Given the description of an element on the screen output the (x, y) to click on. 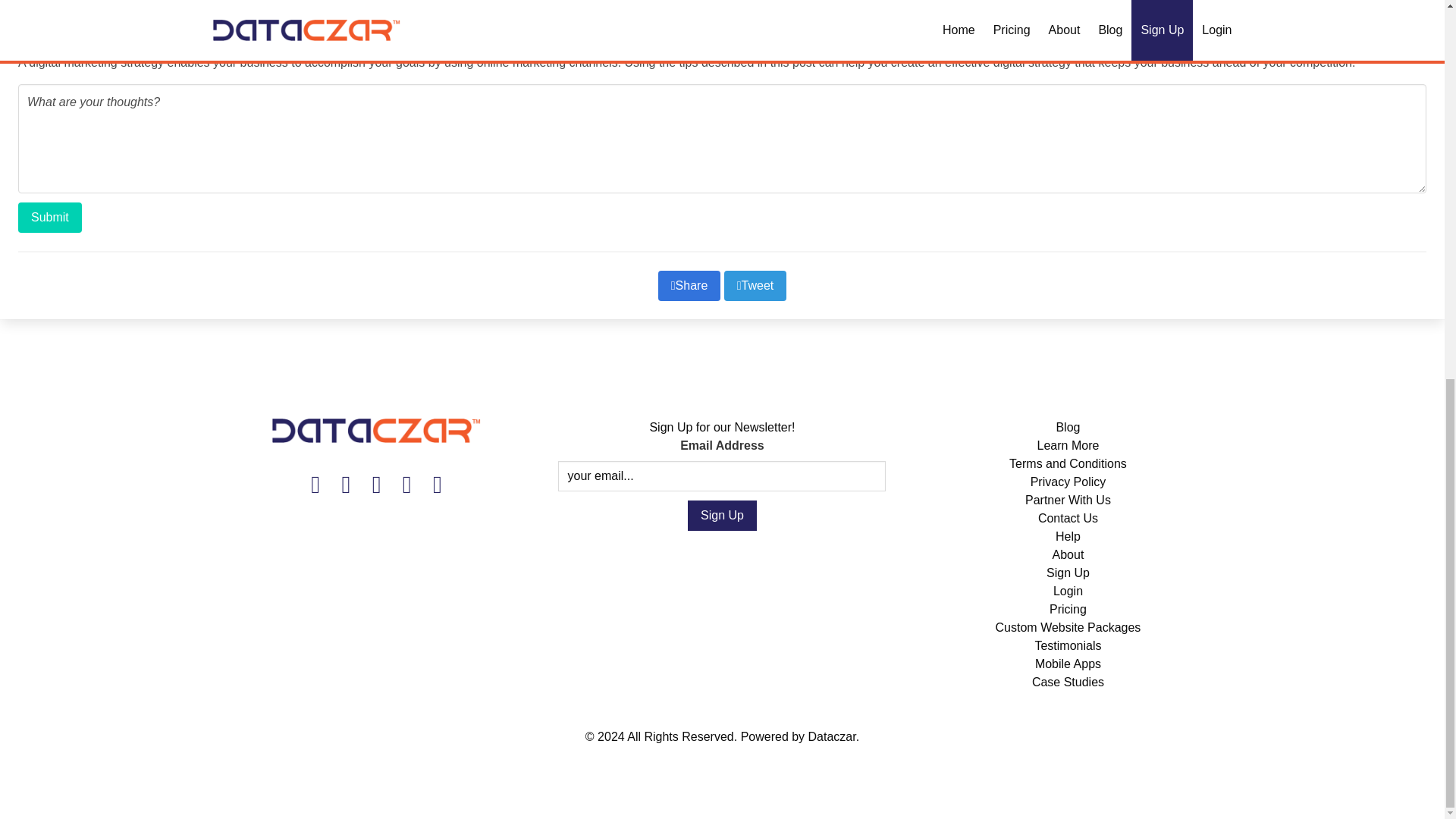
Sign Up (1067, 572)
Learn More (1067, 445)
Pricing (1067, 608)
Privacy Policy (1068, 481)
Case Studies (1067, 681)
Mobile Apps (1067, 663)
Blog (1067, 427)
About (1068, 554)
Custom Website Packages (1068, 626)
Tweet (755, 286)
